Given the description of an element on the screen output the (x, y) to click on. 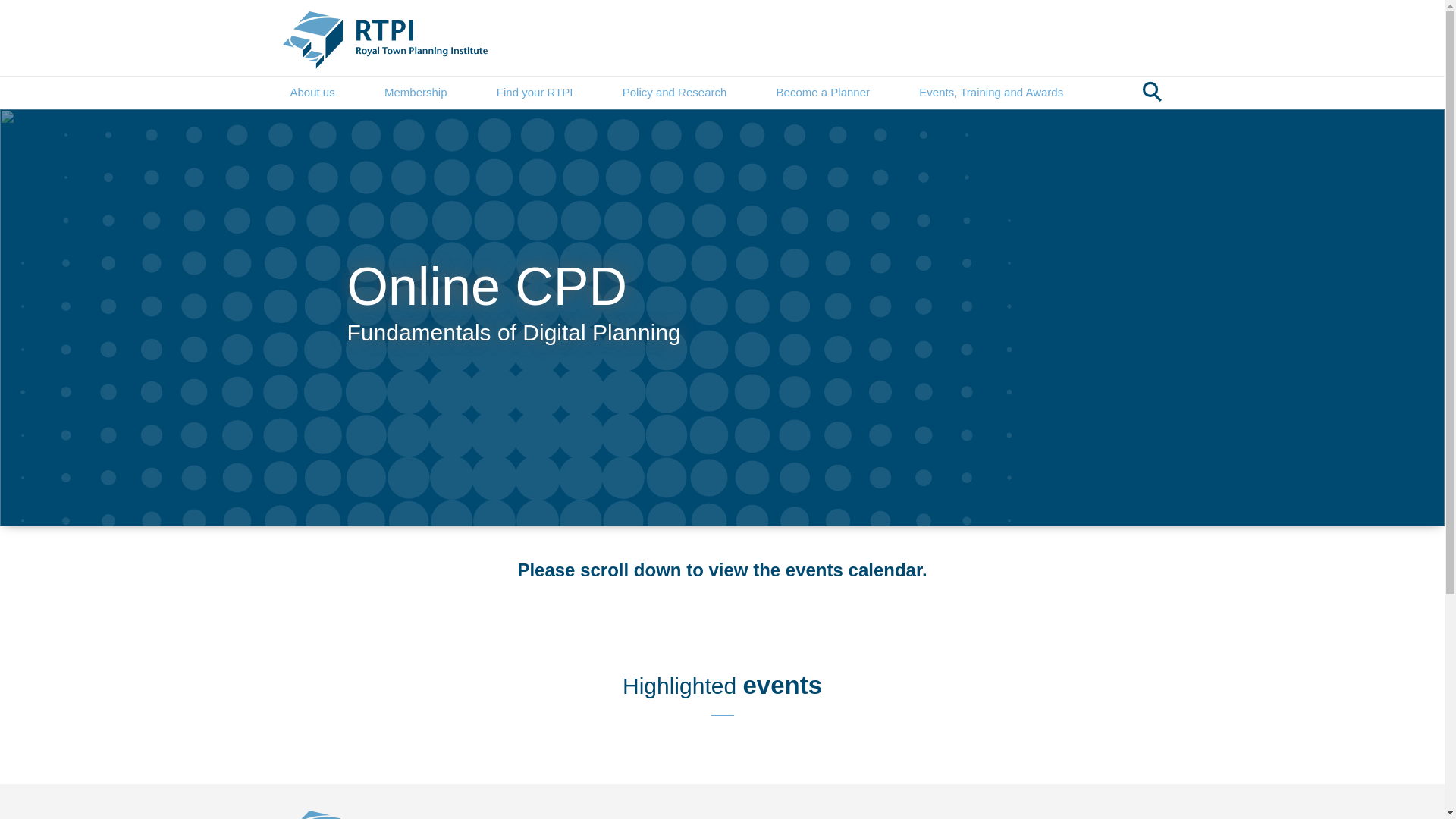
About us (311, 92)
Policy, Practice, and Research (674, 92)
Become a planner (822, 92)
About us (311, 92)
Find your RTPI (534, 92)
Membership (415, 92)
Find your RTPI (534, 92)
Events, Training and Awards (990, 92)
Membership (415, 92)
